Given the description of an element on the screen output the (x, y) to click on. 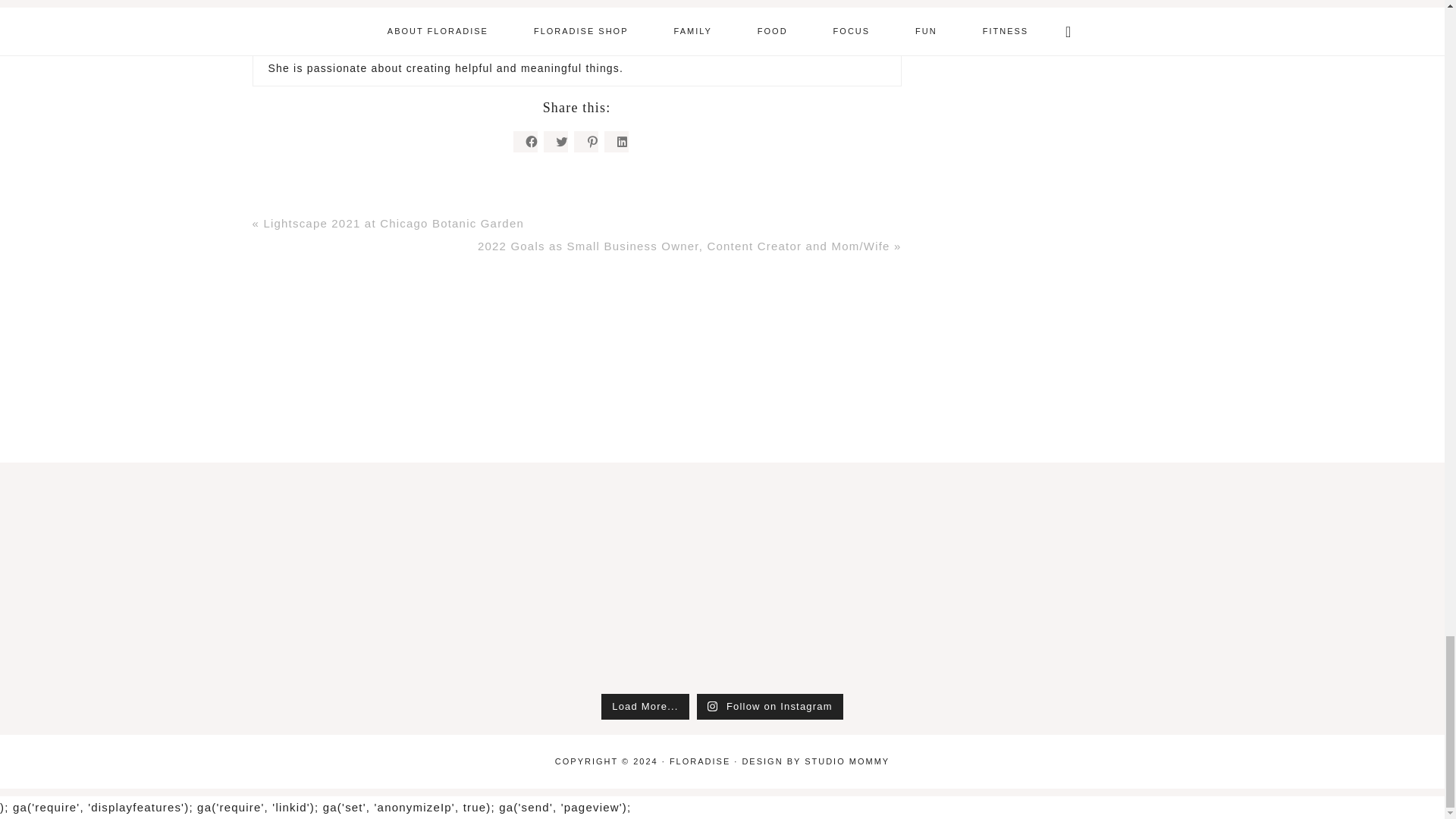
Click to share on Facebook (524, 141)
Click to share on LinkedIn (615, 141)
Click to share on Twitter (555, 141)
Click to share on Pinterest (584, 141)
